Given the description of an element on the screen output the (x, y) to click on. 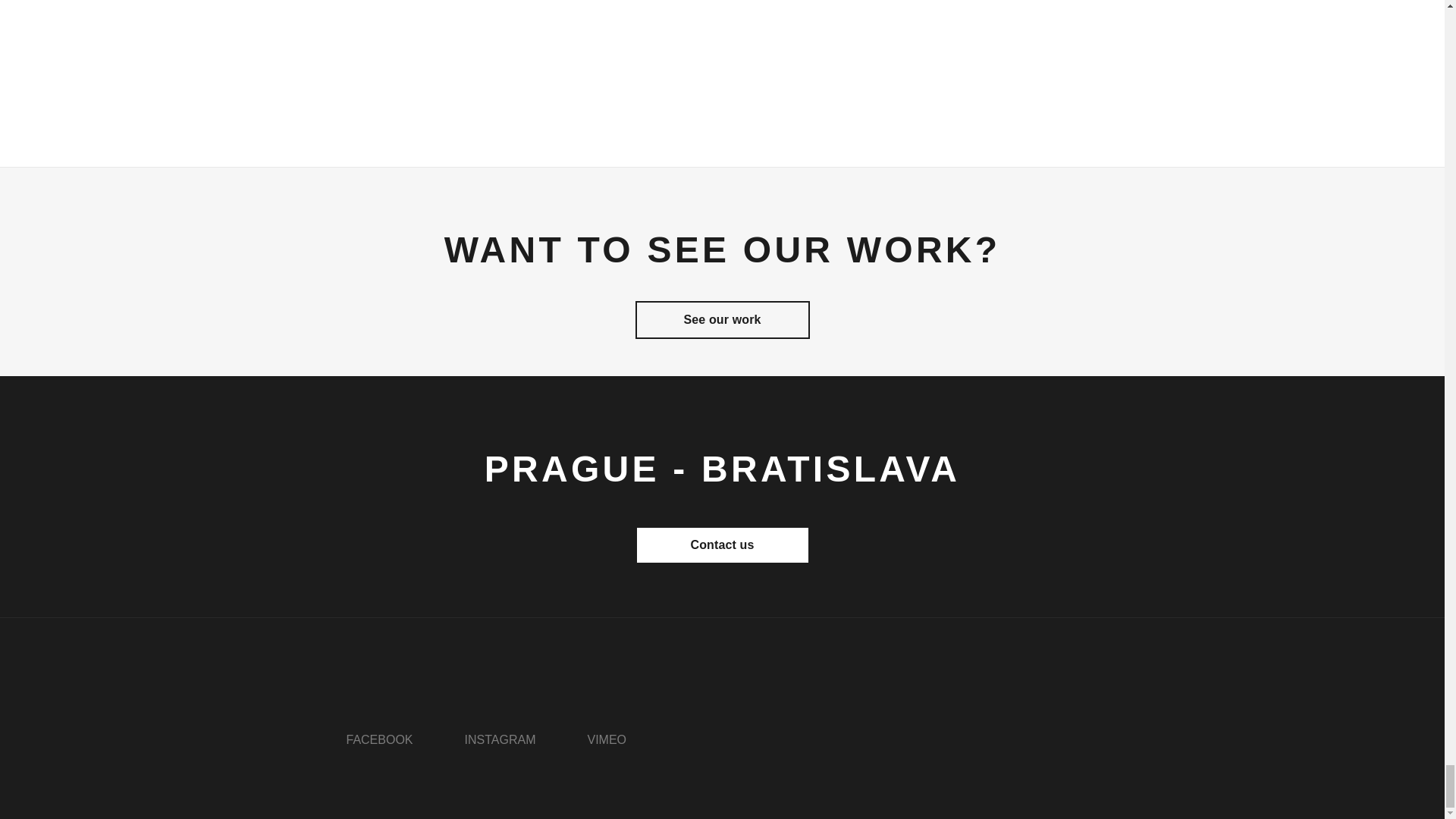
See our work (721, 320)
FACEBOOK (379, 739)
VIMEO (606, 739)
INSTAGRAM (499, 739)
Contact us (721, 545)
